Given the description of an element on the screen output the (x, y) to click on. 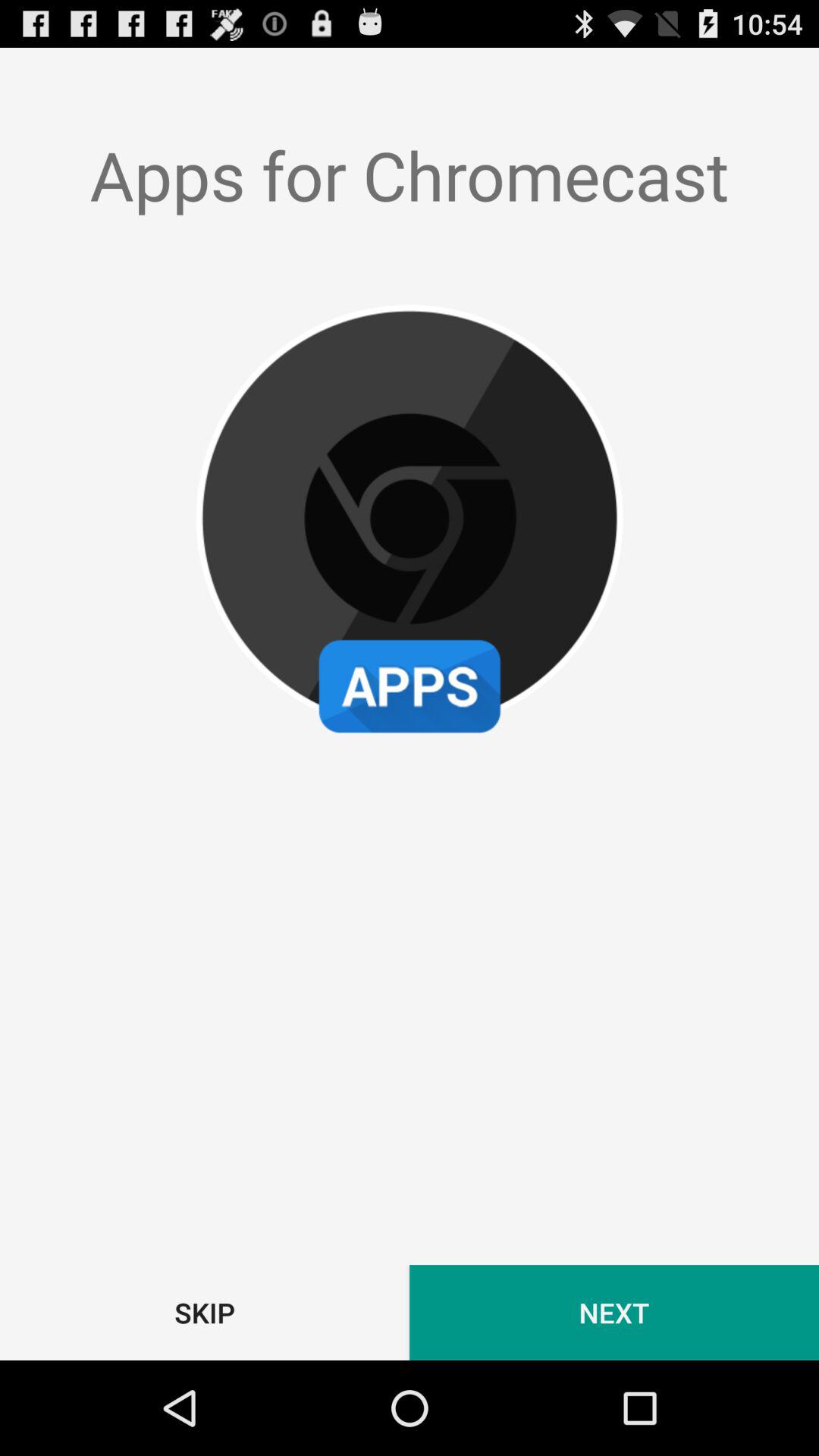
jump to the next item (614, 1312)
